Given the description of an element on the screen output the (x, y) to click on. 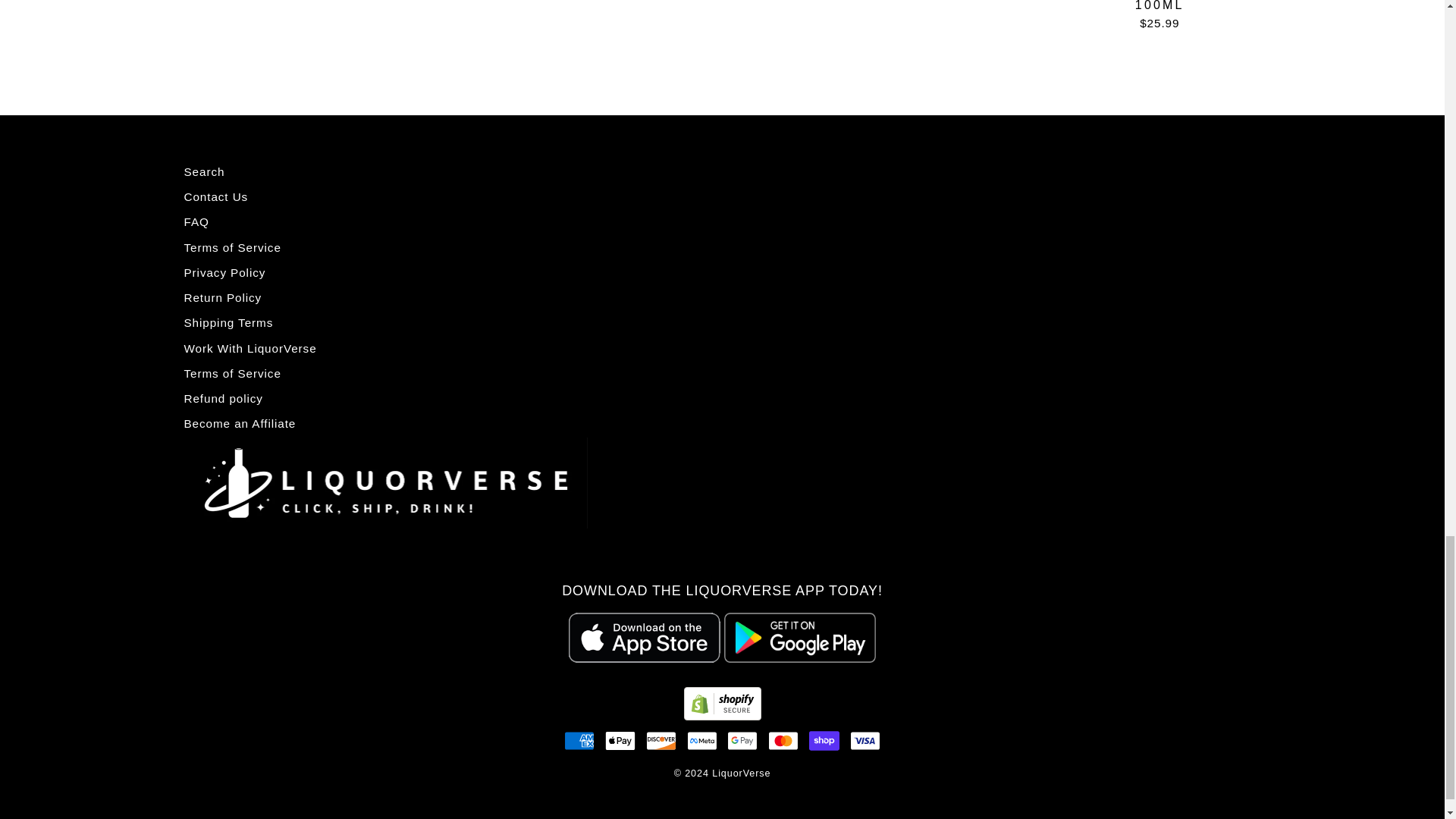
This online store is secured by Shopify (722, 715)
Visa (865, 740)
American Express (579, 740)
Mastercard (782, 740)
Meta Pay (702, 740)
Shop Pay (824, 740)
Google Pay (741, 740)
Discover (661, 740)
Apple Pay (619, 740)
